Given the description of an element on the screen output the (x, y) to click on. 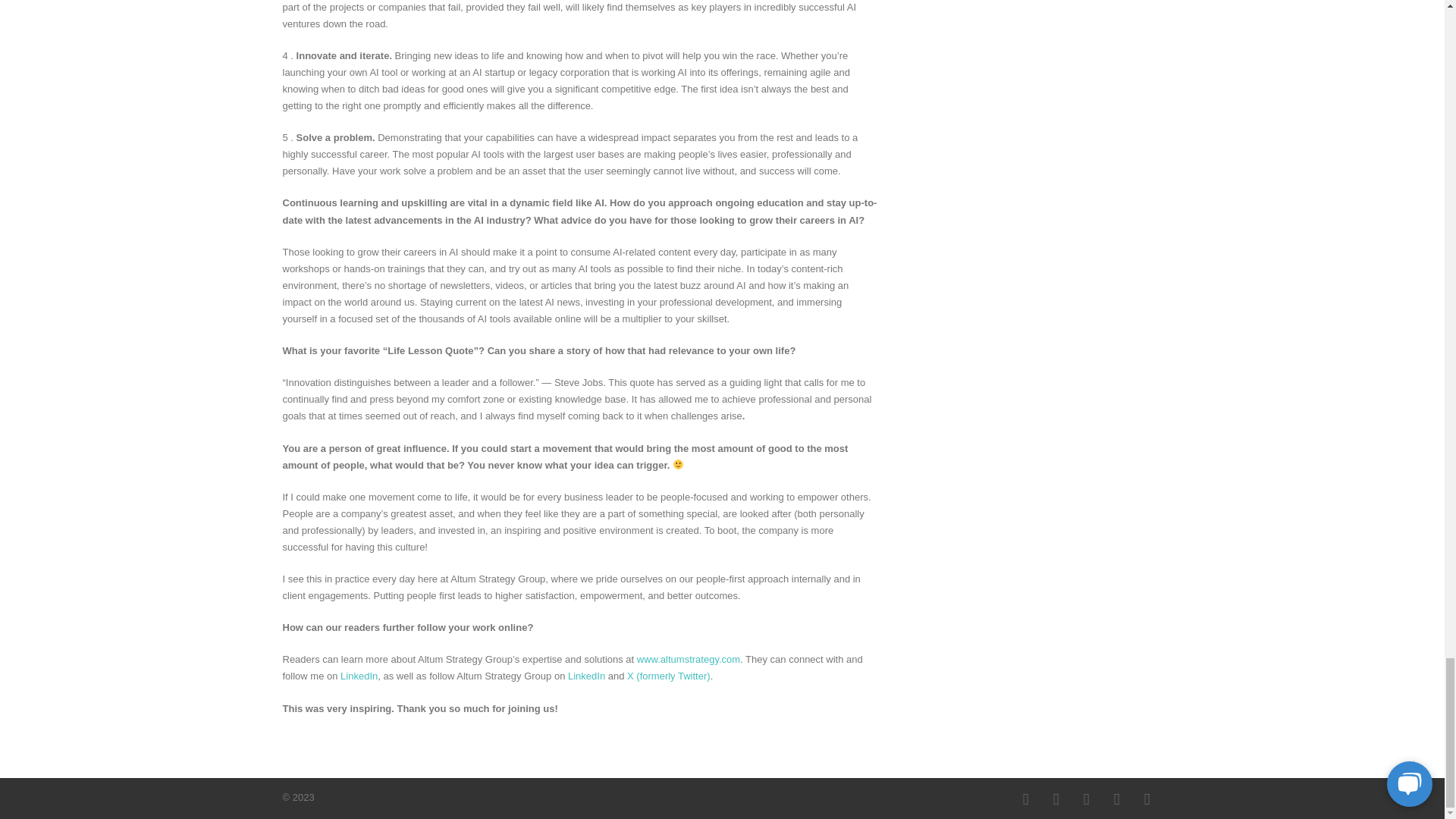
Treads (1146, 798)
Twitter (1085, 798)
LinkedIn (1055, 798)
YouTube (1115, 798)
Facebook (1025, 798)
